Given the description of an element on the screen output the (x, y) to click on. 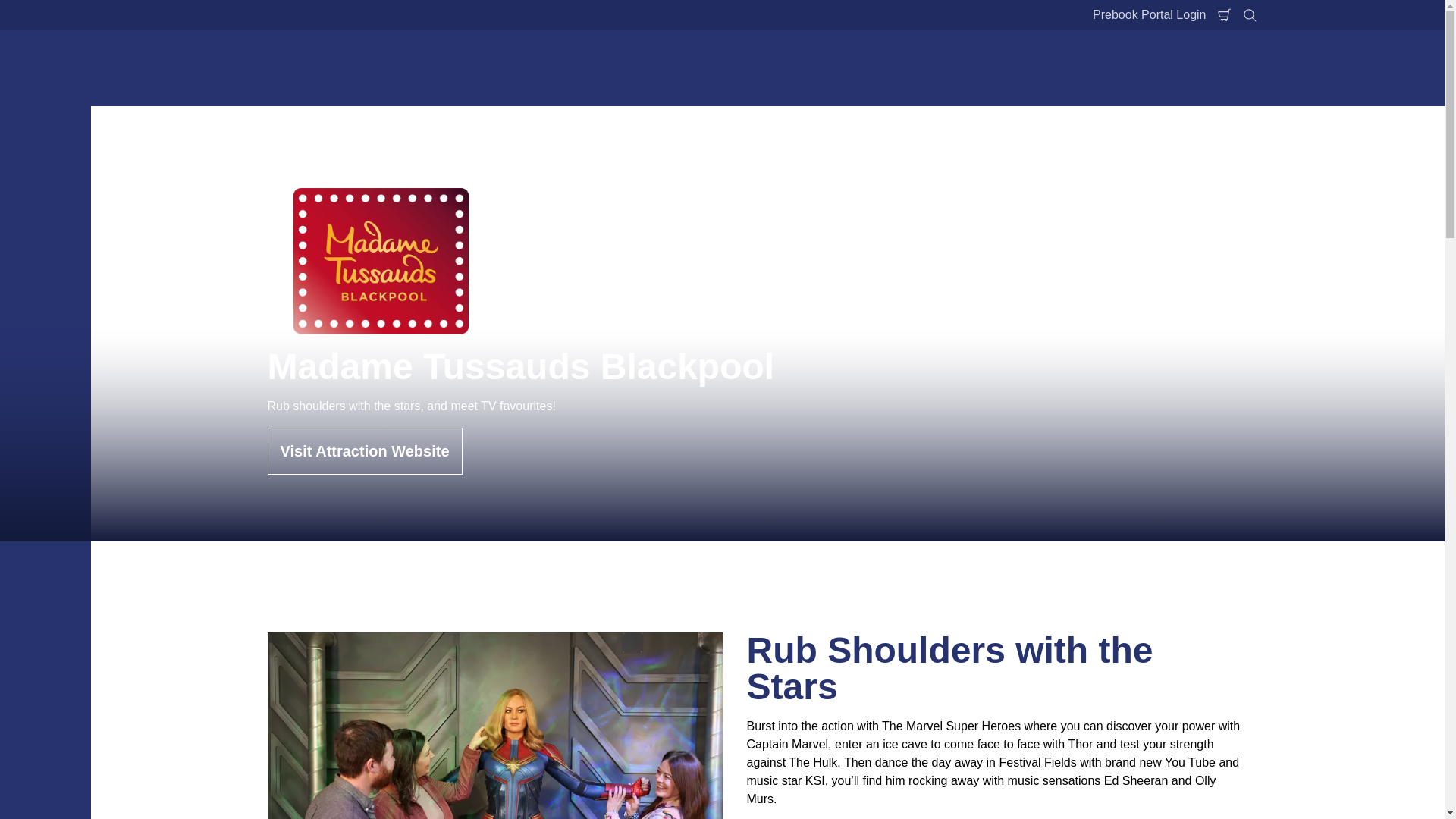
Check Out (1223, 14)
Shopping Cart (1223, 14)
Prebook Portal Login (1149, 14)
Search (1249, 14)
